Given the description of an element on the screen output the (x, y) to click on. 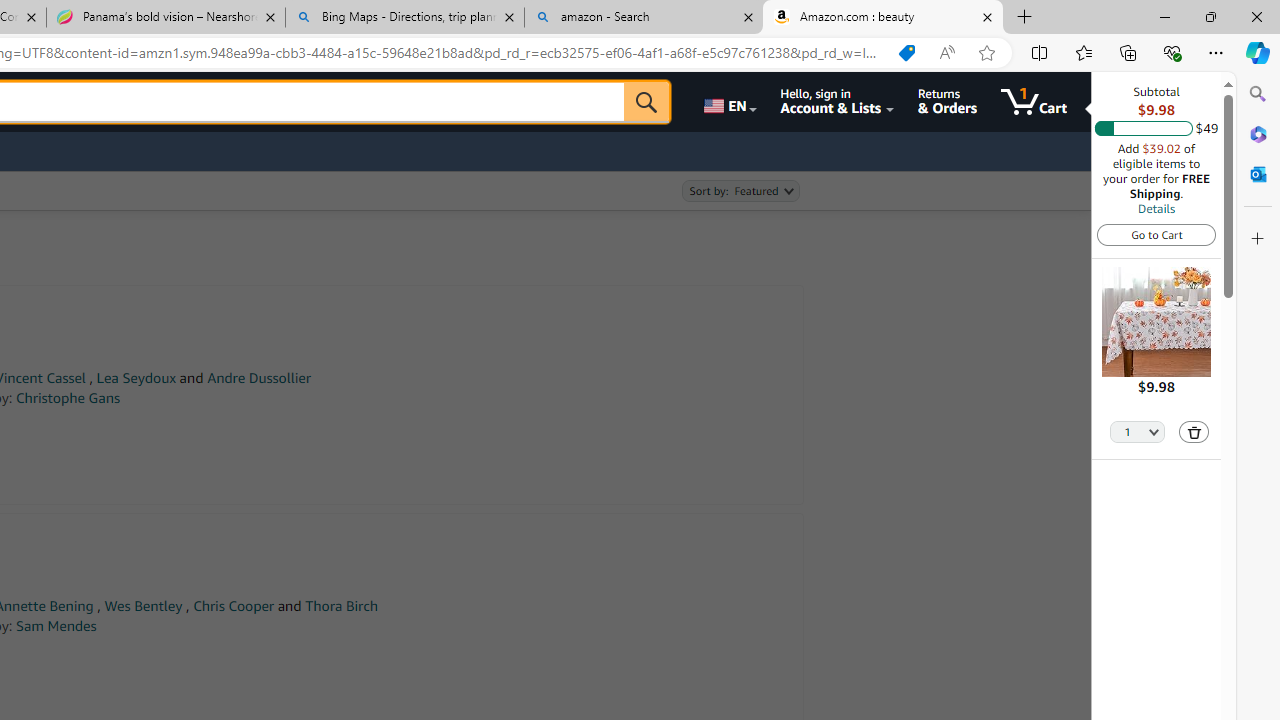
Details (1156, 208)
1 item in cart (1034, 101)
Returns & Orders (946, 101)
Quantity Selector (1137, 430)
amazon - Search (643, 17)
Lea Seydoux (136, 378)
Delete (1194, 431)
